Given the description of an element on the screen output the (x, y) to click on. 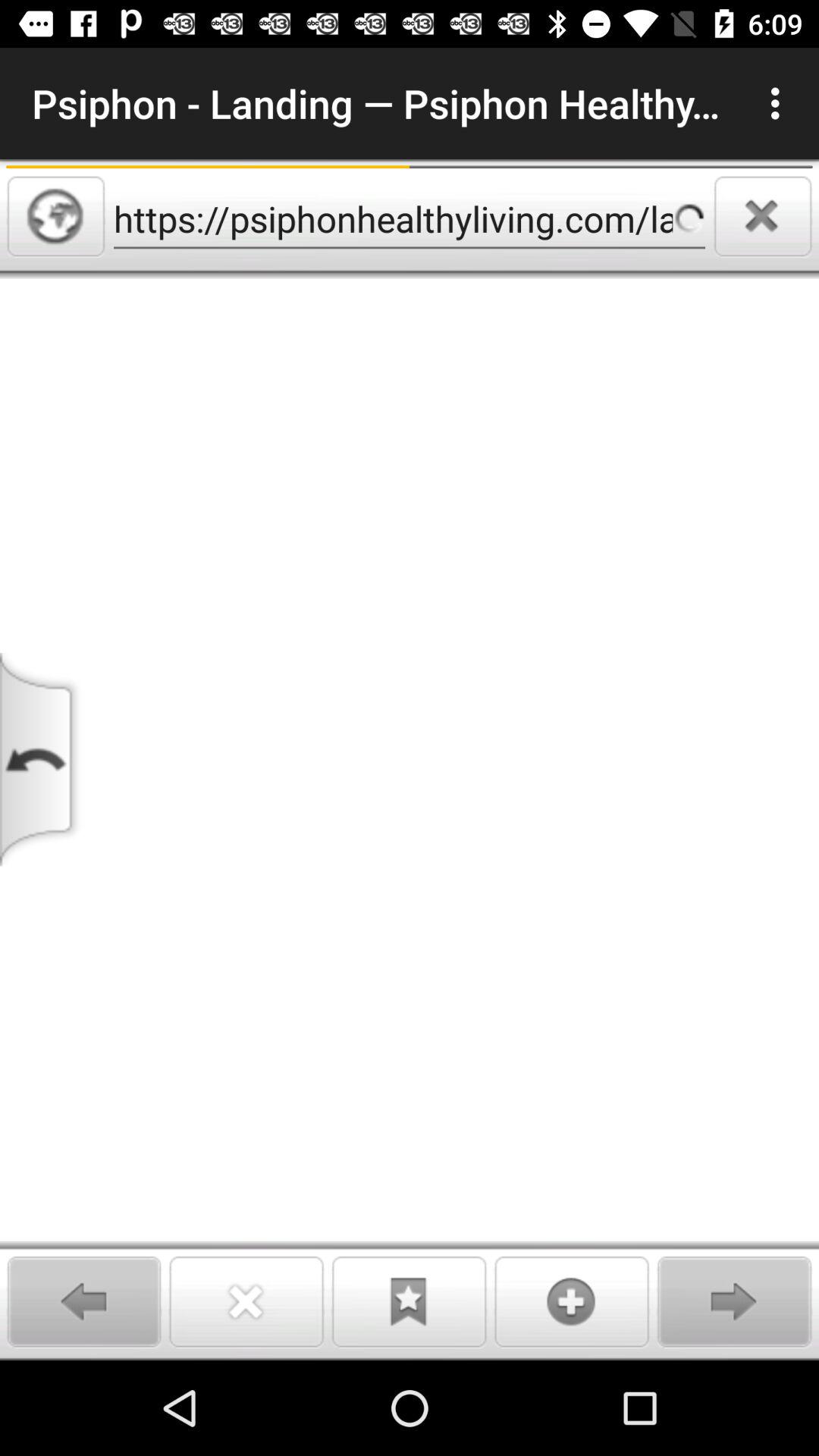
show more (571, 1301)
